Given the description of an element on the screen output the (x, y) to click on. 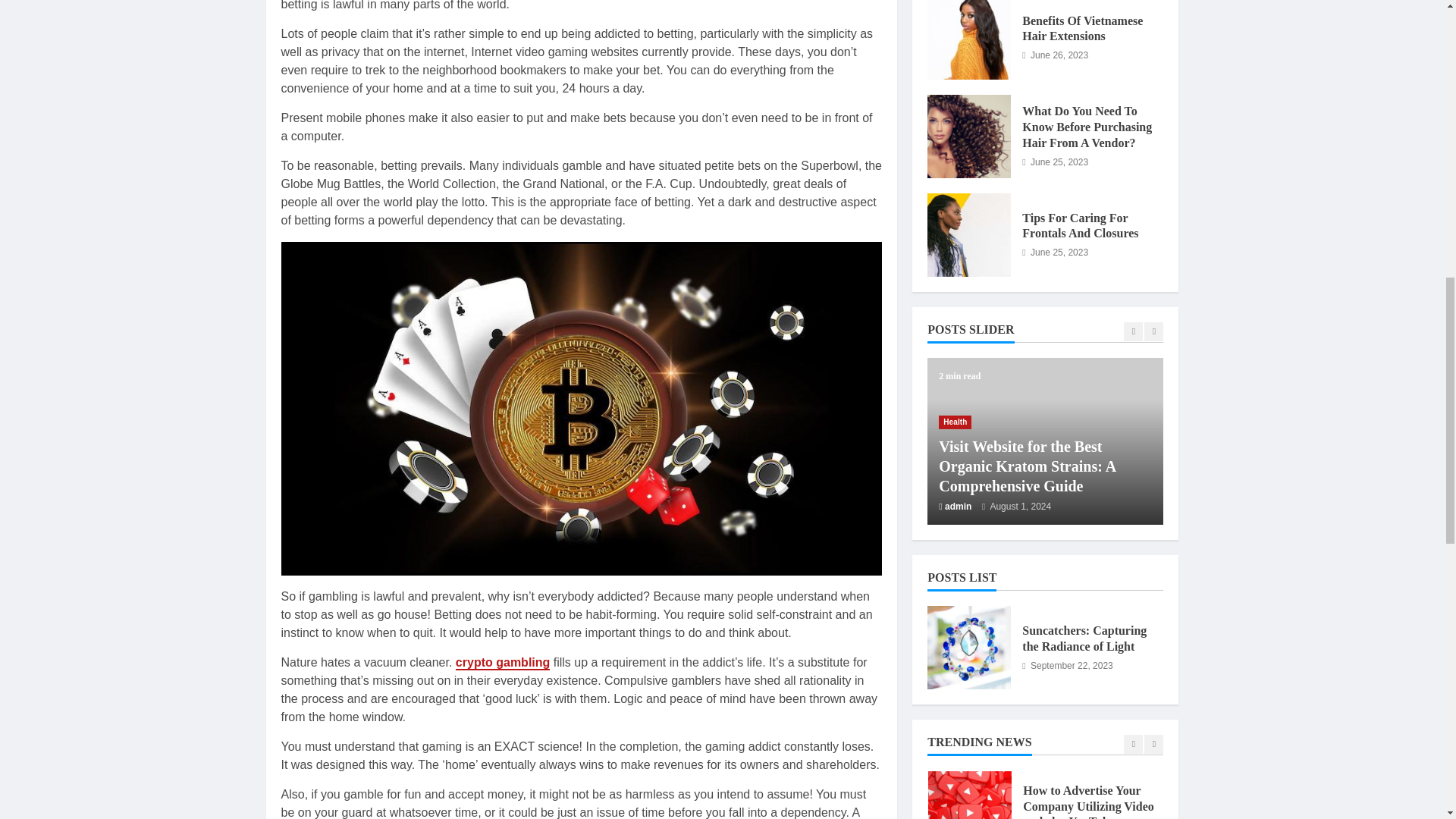
crypto gambling (502, 663)
Tips For Caring For Frontals And Closures (968, 234)
Benefits Of Vietnamese Hair Extensions (968, 39)
Benefits Of Vietnamese Hair Extensions (1082, 28)
